Given the description of an element on the screen output the (x, y) to click on. 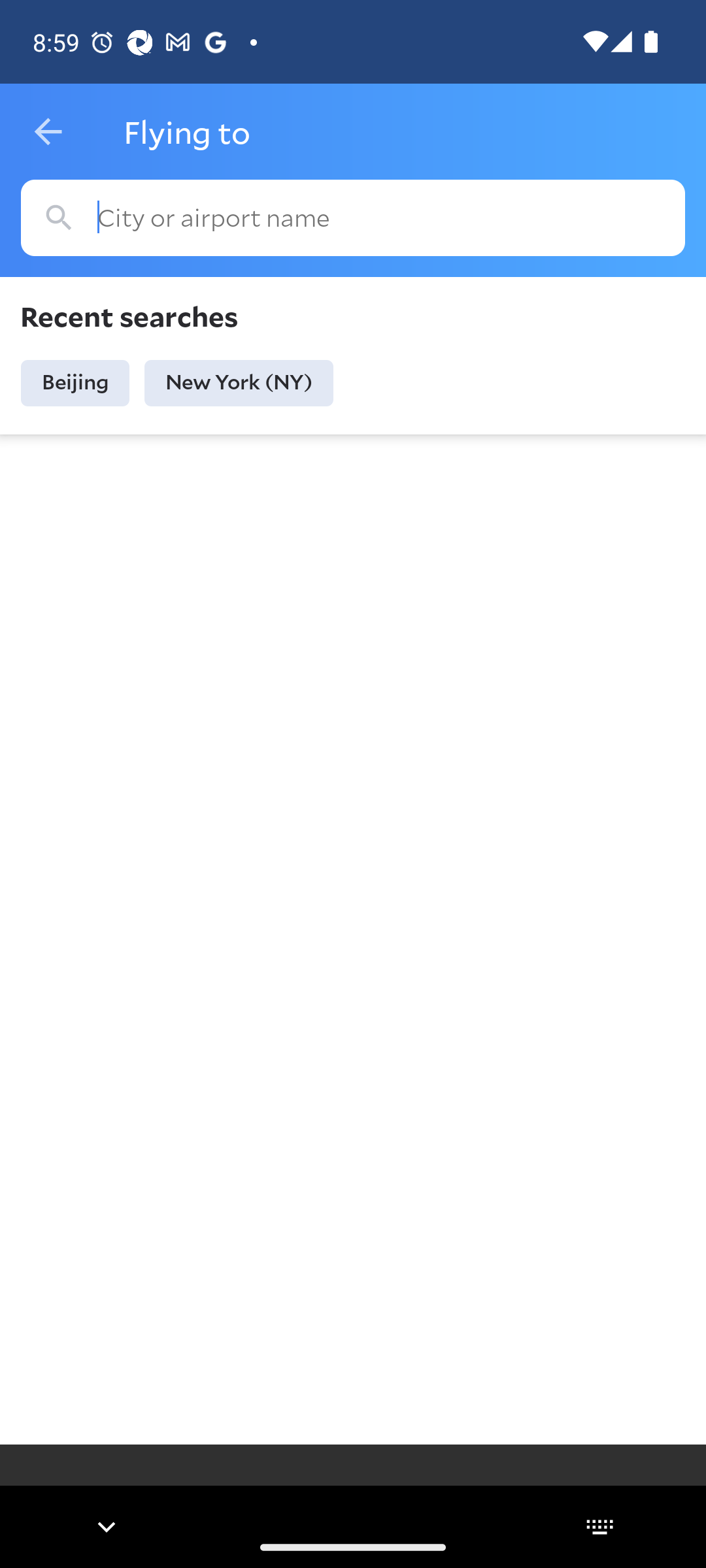
Navigate up (48, 131)
City or airport name (352, 217)
Beijing  Beijing (74, 383)
New York (NY)  New York (NY) (238, 383)
